Given the description of an element on the screen output the (x, y) to click on. 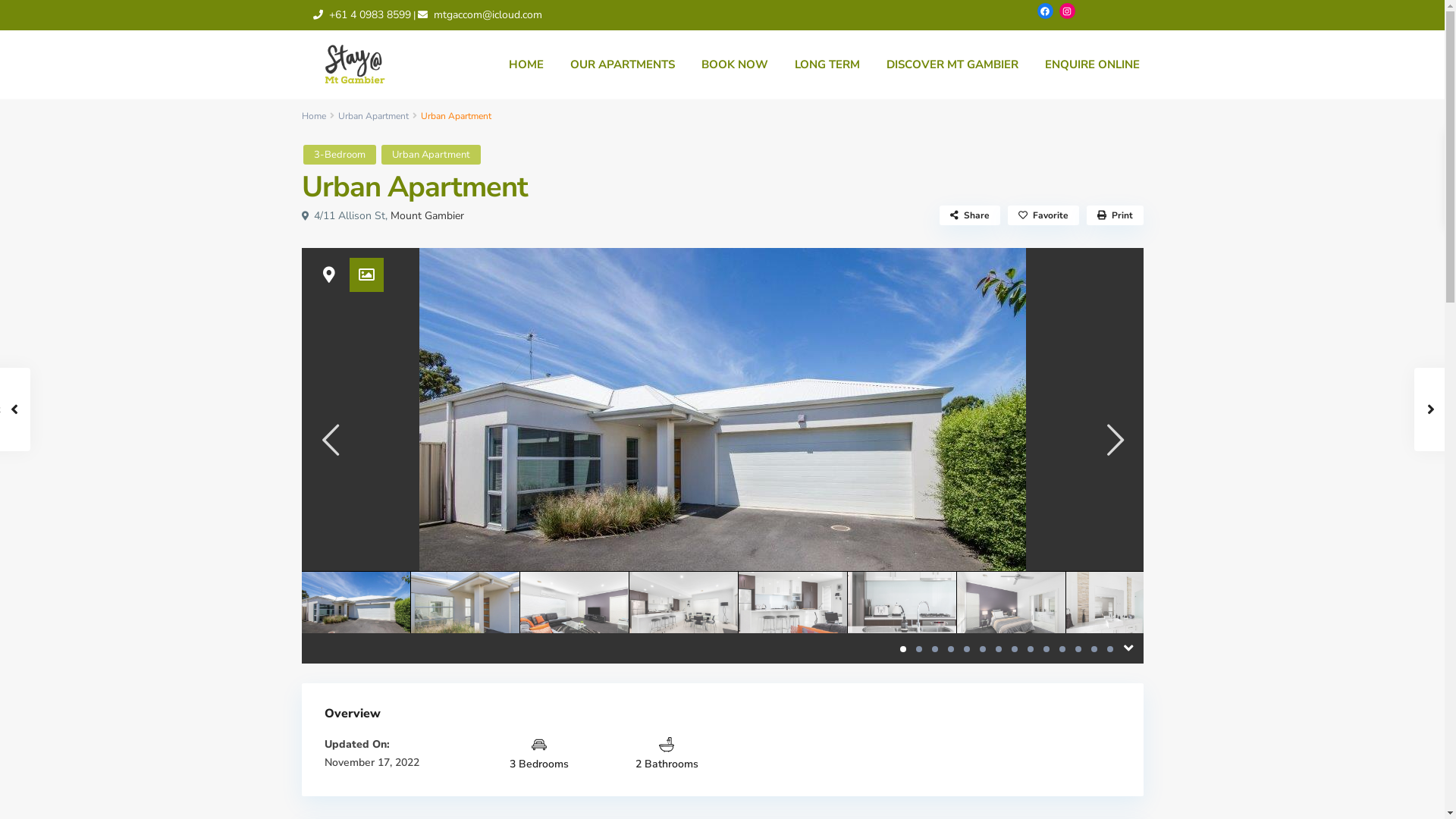
Urban Apartment Element type: text (430, 154)
Urban Apartment Element type: text (373, 115)
Mount Gambier Element type: text (426, 215)
DISCOVER MT GAMBIER Element type: text (952, 64)
ENQUIRE ONLINE Element type: text (1091, 64)
HOME Element type: text (526, 64)
Home Element type: text (313, 115)
BOOK NOW Element type: text (734, 64)
LONG TERM Element type: text (826, 64)
3-Bedroom Element type: text (339, 154)
OUR APARTMENTS Element type: text (621, 64)
